Given the description of an element on the screen output the (x, y) to click on. 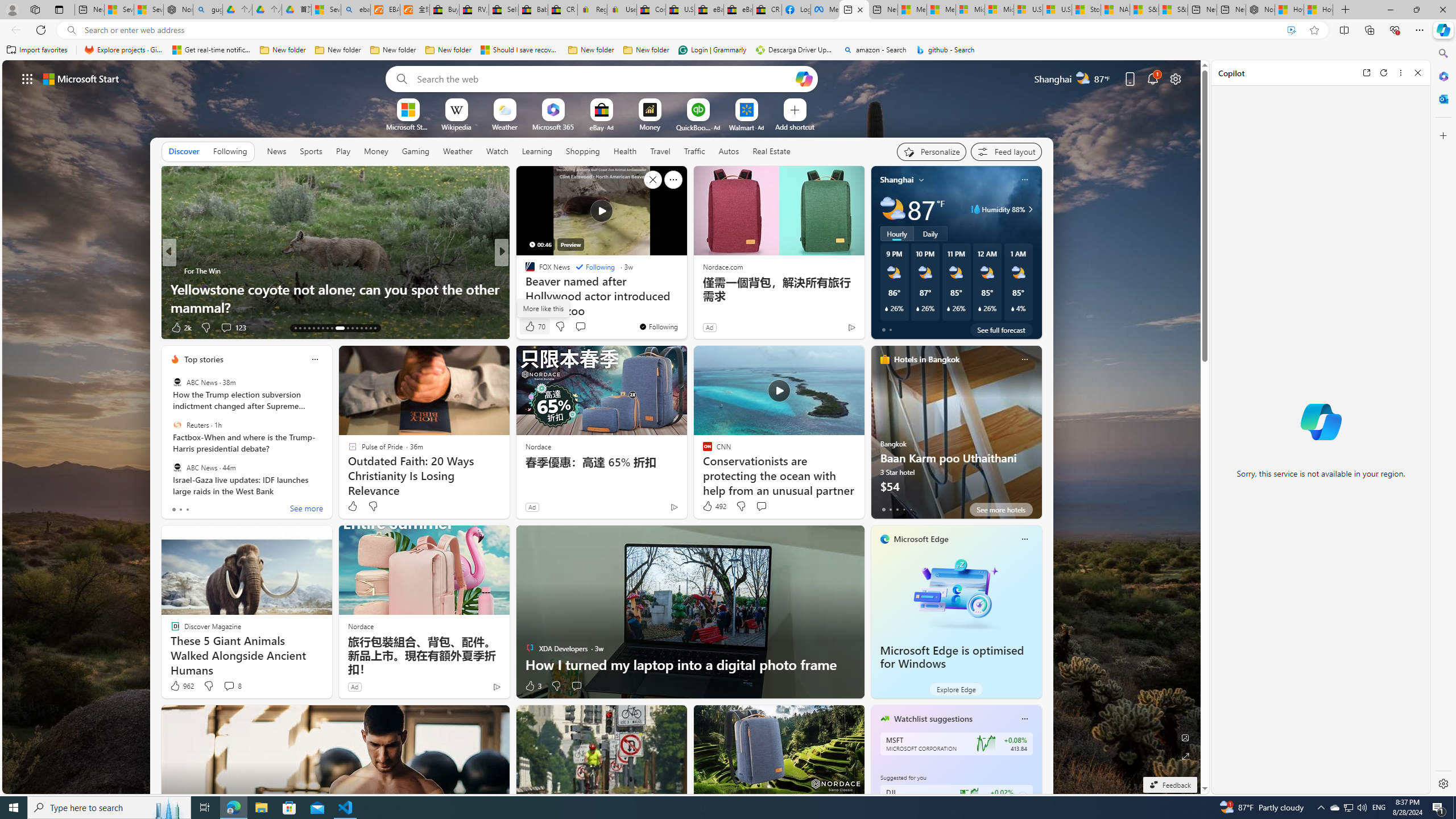
11 Like (530, 327)
Daily (929, 233)
Expand background (1185, 756)
Real Estate (771, 151)
Page settings (1175, 78)
Play (342, 151)
My location (921, 179)
AutomationID: tab-15 (304, 328)
